Given the description of an element on the screen output the (x, y) to click on. 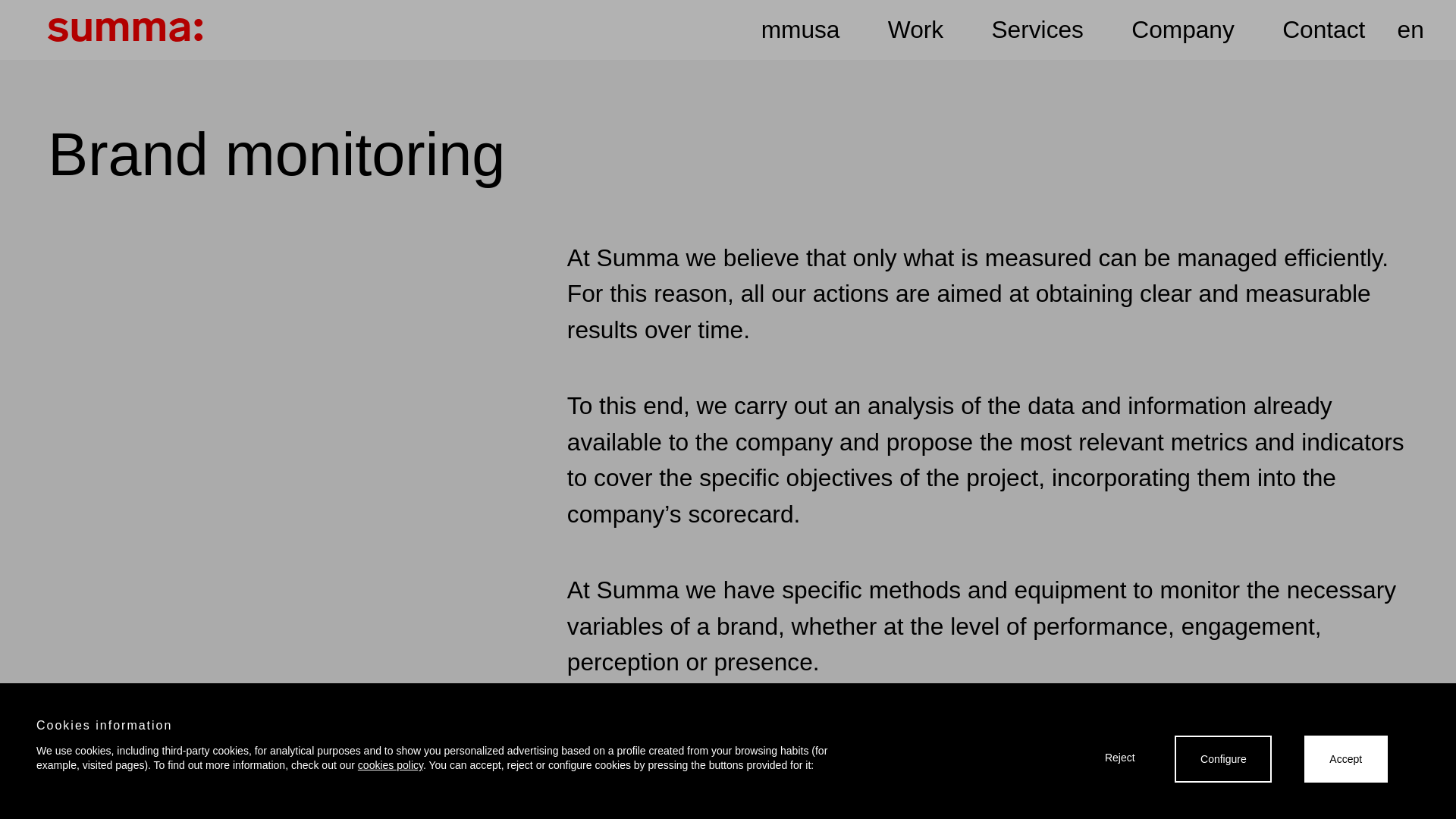
Services (1037, 30)
Contact (1323, 30)
Company (1182, 30)
cookies policy (390, 765)
Work (915, 30)
Call us and together we will make them come true (729, 678)
mmusa (800, 30)
